Given the description of an element on the screen output the (x, y) to click on. 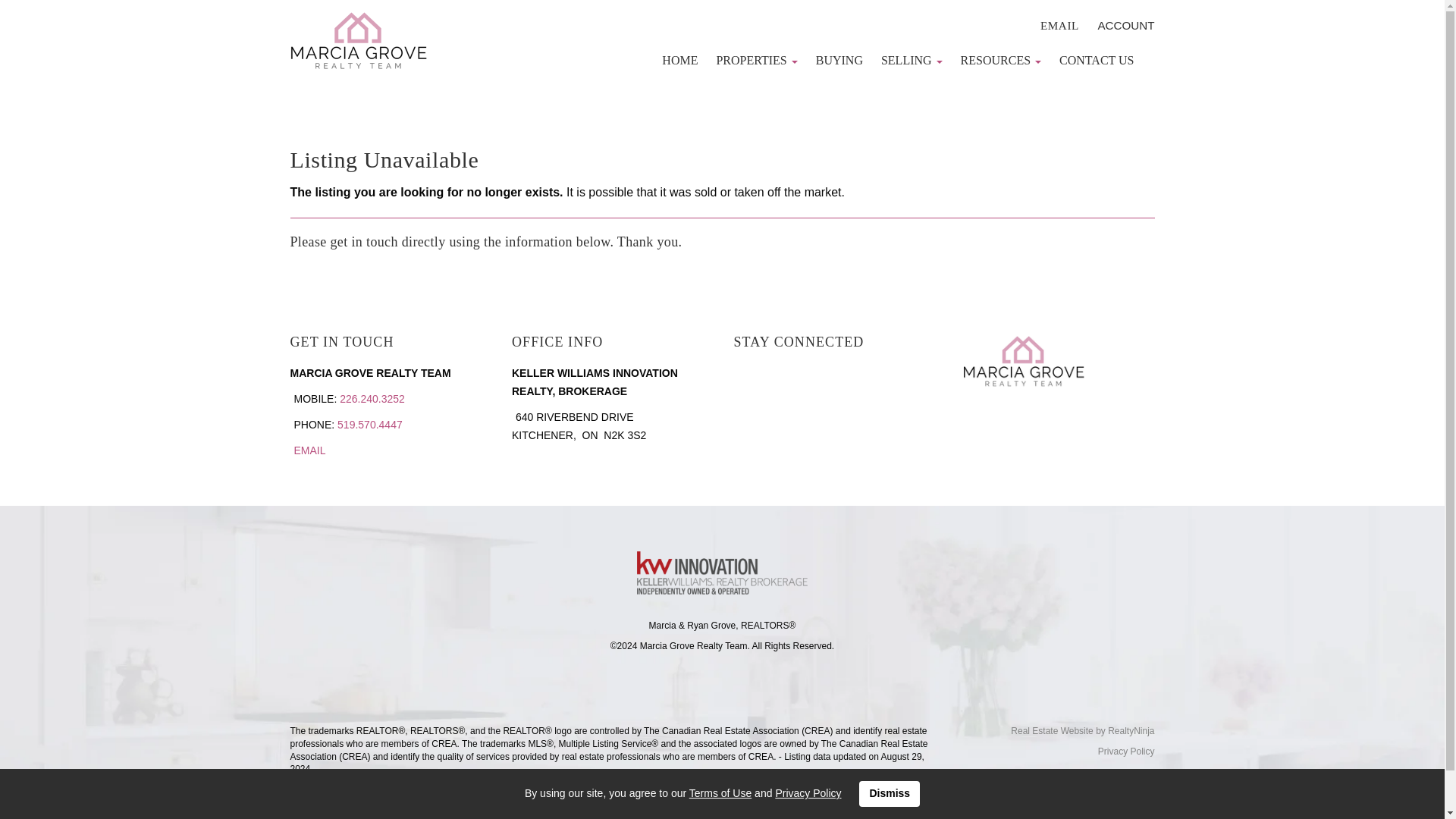
Privacy Policy (807, 793)
EMAIL (1059, 24)
226.240.3252 (371, 398)
Privacy Policy (1125, 751)
ACCOUNT (1125, 24)
BUYING (839, 60)
PROPERTIES (756, 60)
SELLING (912, 60)
CONTACT US (1095, 60)
Keller Williams Innovation Realty - Logo (722, 573)
